Given the description of an element on the screen output the (x, y) to click on. 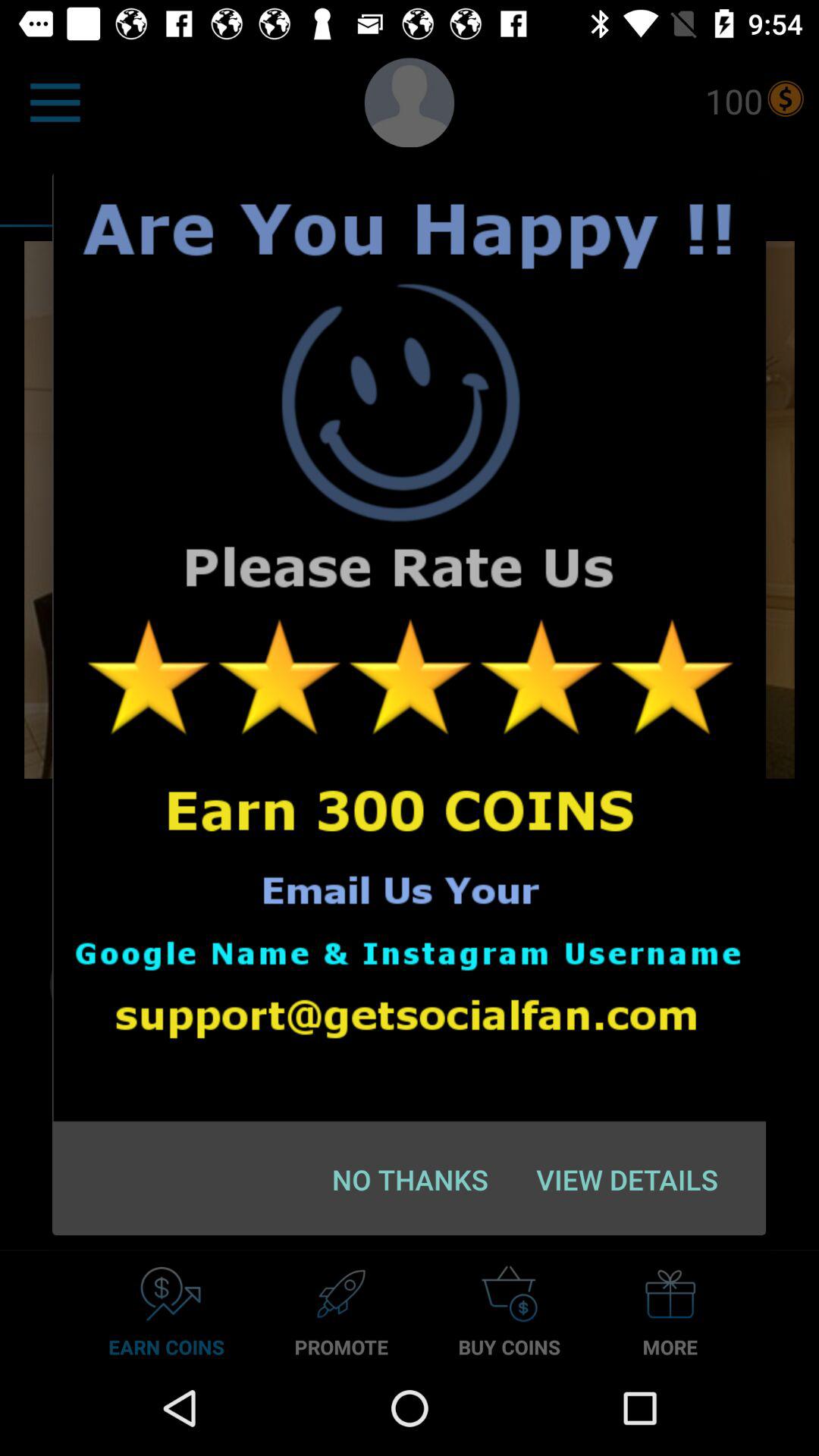
choose no thanks at the bottom (410, 1179)
